Given the description of an element on the screen output the (x, y) to click on. 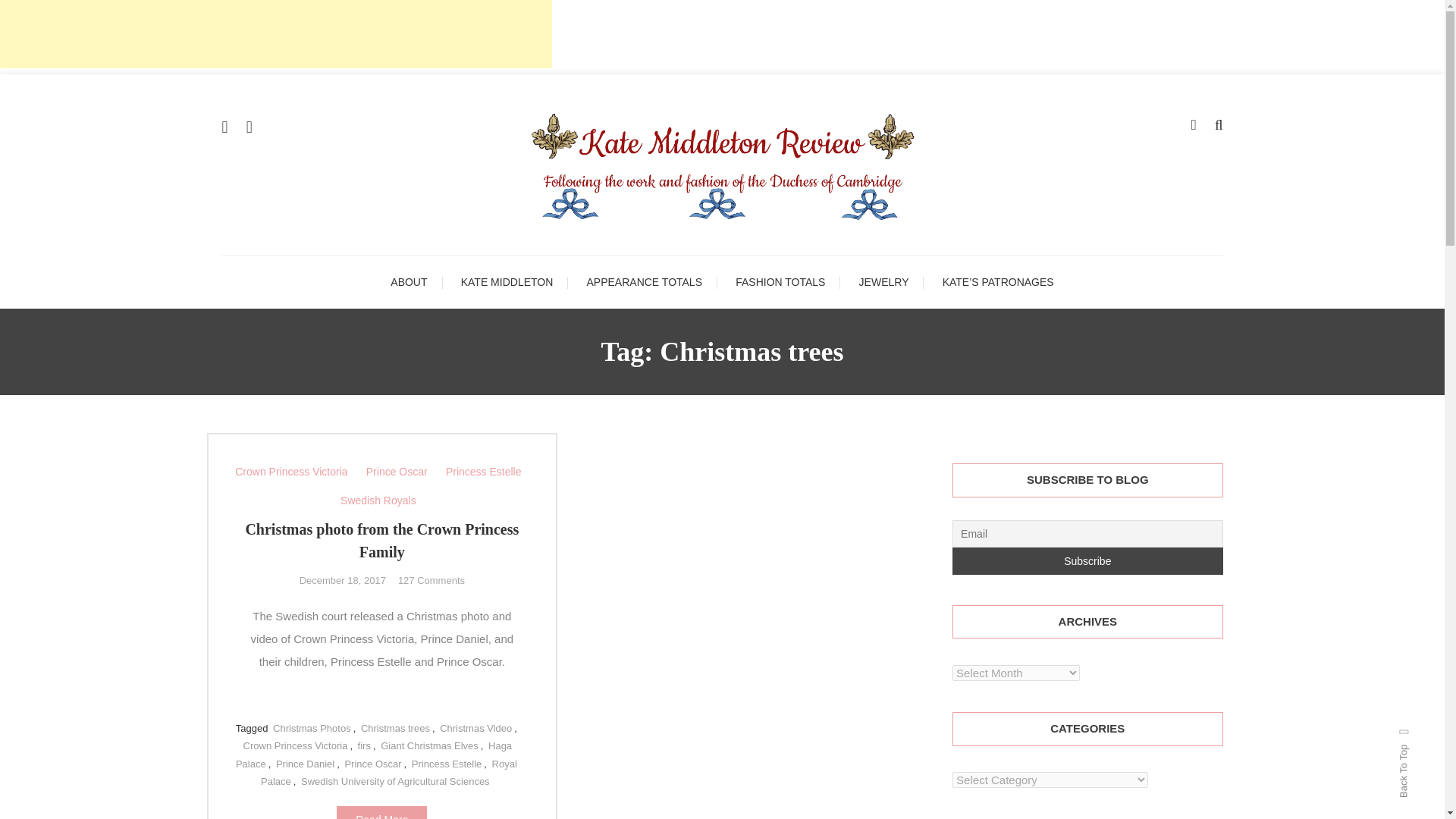
FASHION TOTALS (780, 281)
December 18, 2017 (342, 580)
APPEARANCE TOTALS (644, 281)
Crown Princess Victoria (290, 471)
ABOUT (408, 281)
Christmas photo from the Crown Princess Family (381, 540)
Kate Middleton Review (751, 273)
Swedish Royals (378, 500)
Search (768, 432)
KATE MIDDLETON (507, 281)
